Given the description of an element on the screen output the (x, y) to click on. 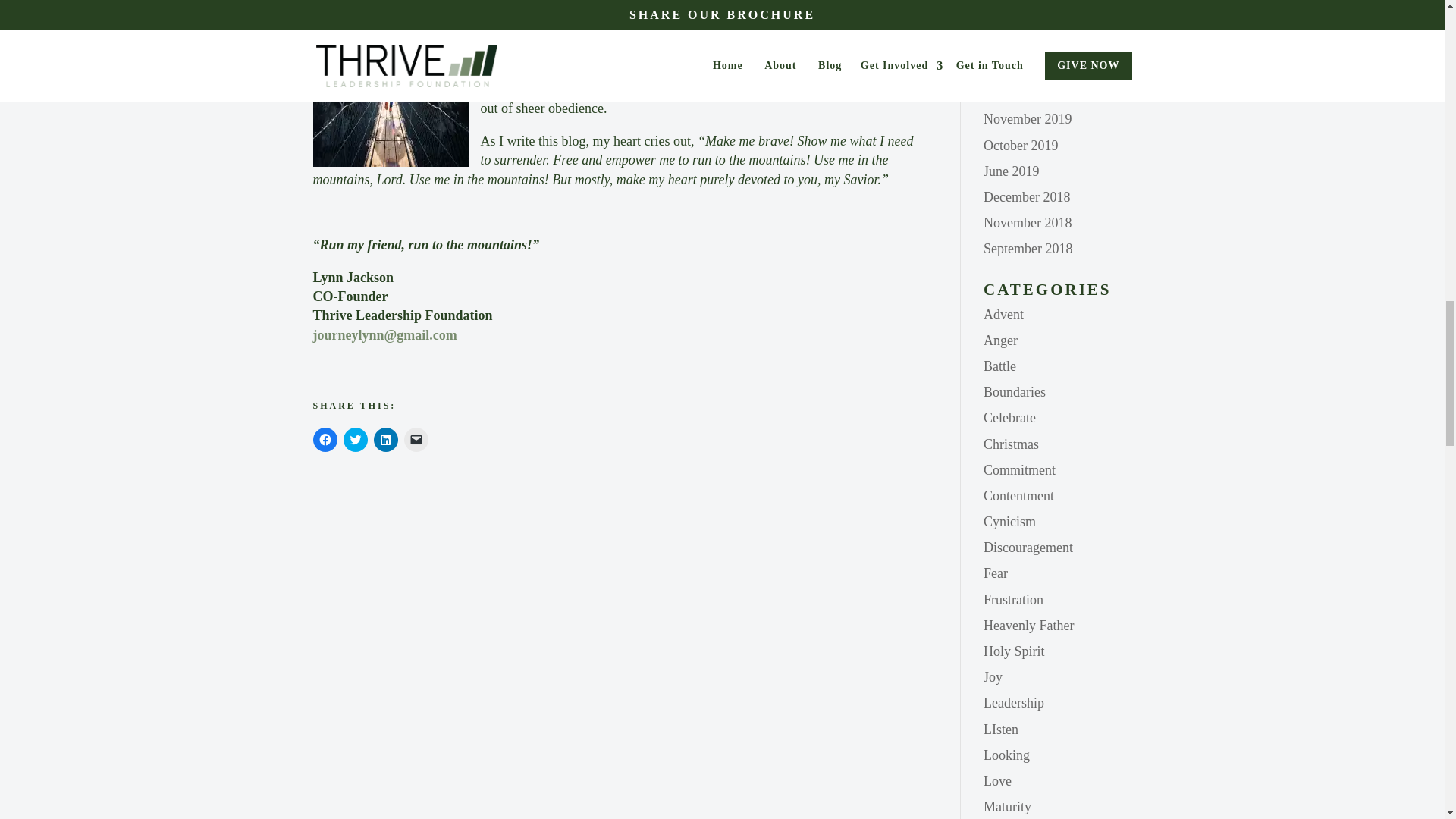
Click to share on Facebook (324, 439)
Click to share on LinkedIn (384, 439)
Click to share on Twitter (354, 439)
Click to email a link to a friend (415, 439)
